Given the description of an element on the screen output the (x, y) to click on. 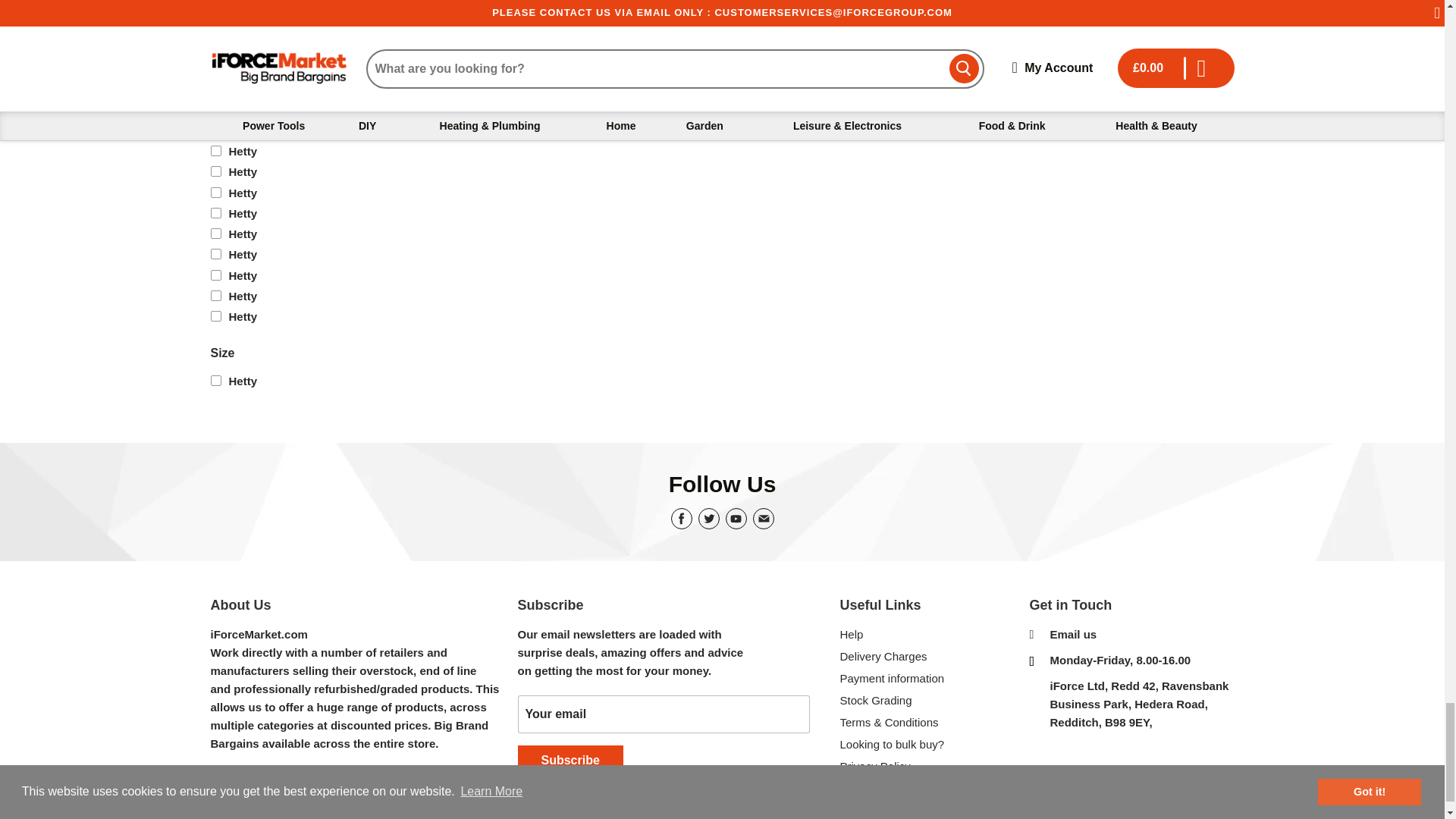
Hetty (280, 380)
